Given the description of an element on the screen output the (x, y) to click on. 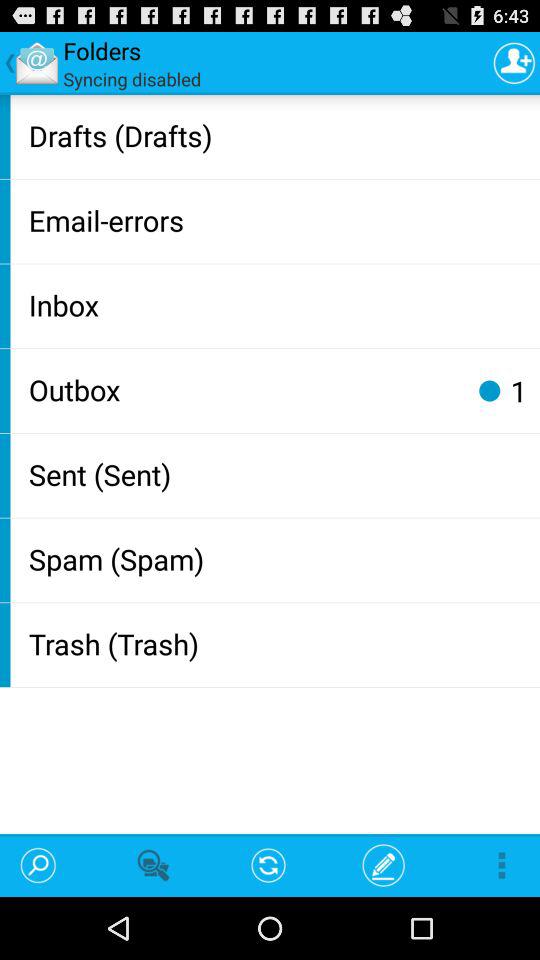
tap the app below the trash (trash) app (268, 864)
